Given the description of an element on the screen output the (x, y) to click on. 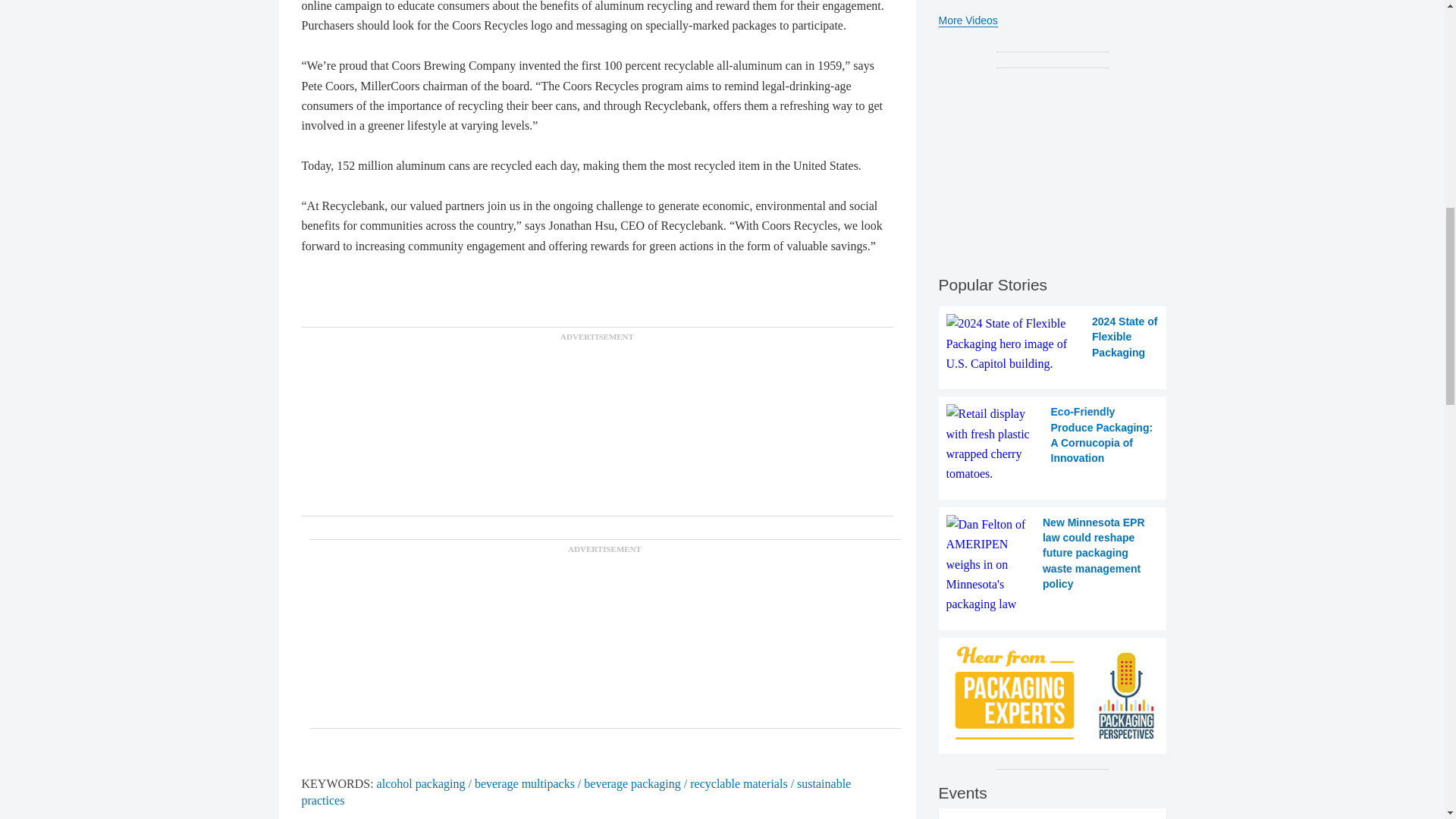
2024 State of Flexible Packaging (1052, 343)
Eco-Friendly Produce Packaging: A Cornucopia of Innovation (1052, 444)
